Given the description of an element on the screen output the (x, y) to click on. 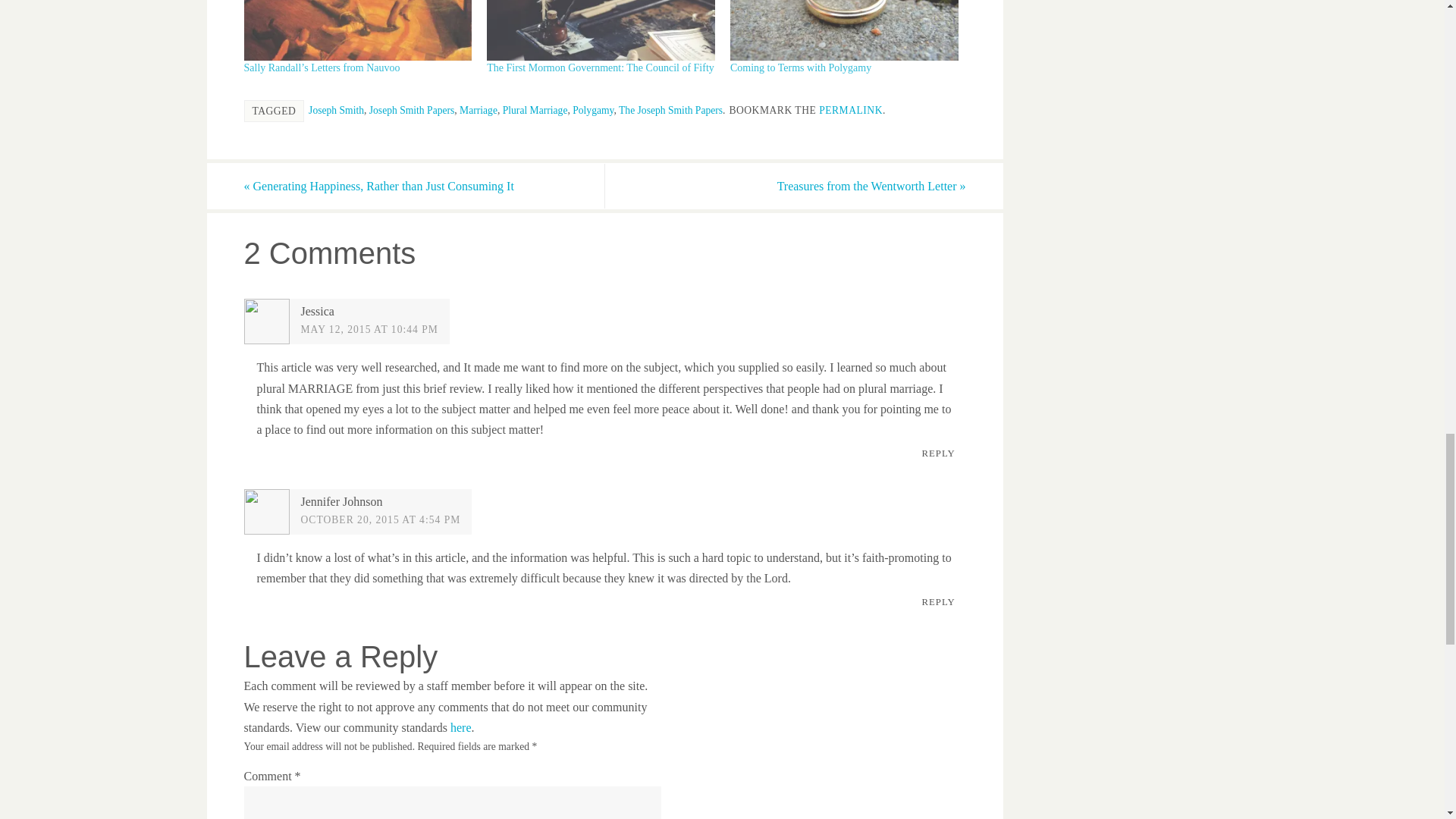
The First Mormon Government: The Council of Fifty (600, 30)
The First Mormon Government: The Council of Fifty (600, 67)
